Given the description of an element on the screen output the (x, y) to click on. 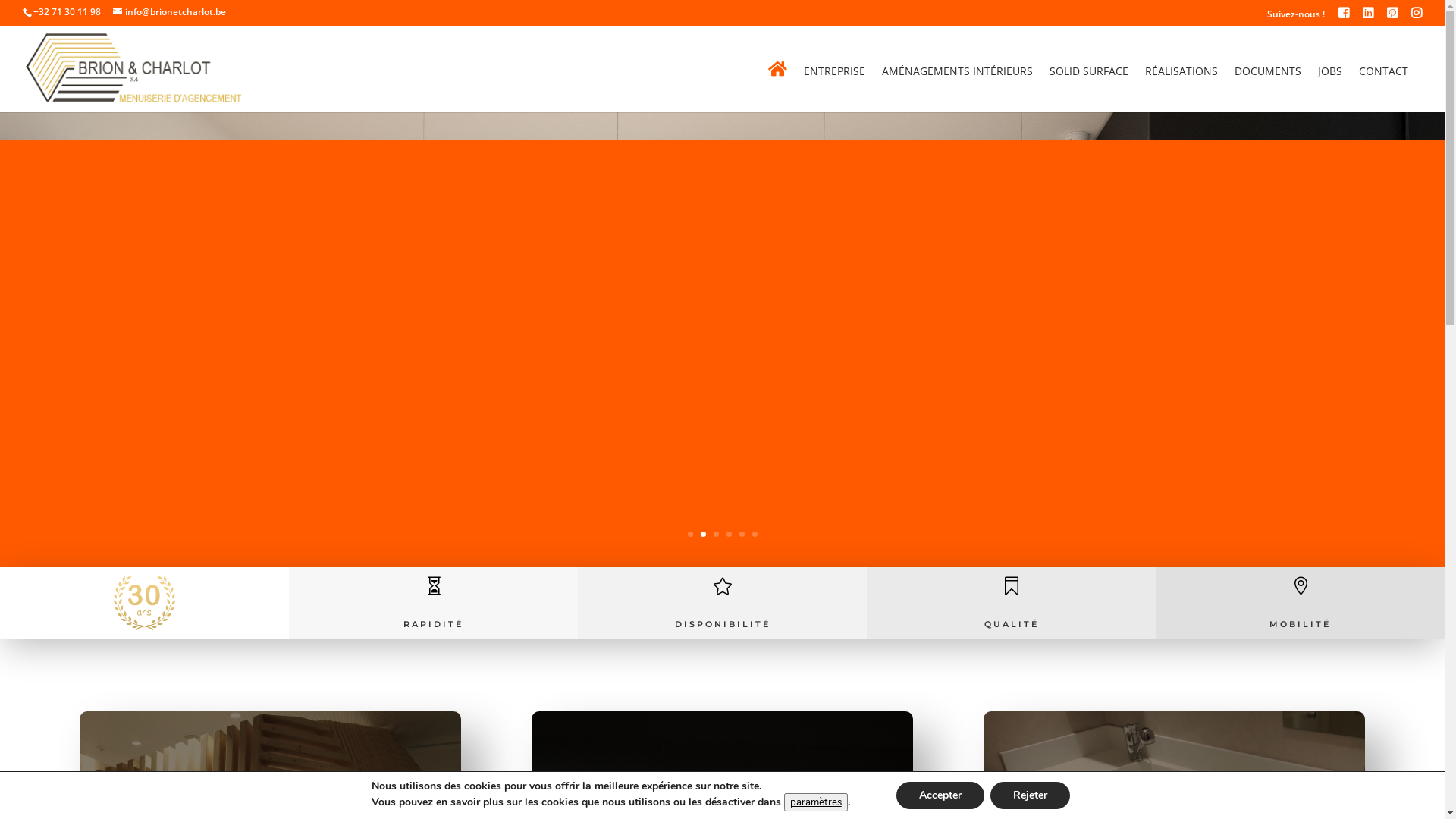
Suivez-nous ! Element type: text (1295, 17)
DOCUMENTS Element type: text (1267, 88)
JOBS Element type: text (1329, 88)
SOLID SURFACE Element type: text (1088, 88)
5 Element type: text (740, 533)
info@brionetcharlot.be Element type: text (168, 11)
3 Element type: text (715, 533)
4 Element type: text (728, 533)
CONTACT Element type: text (1383, 88)
ENTREPRISE Element type: text (834, 88)
2 Element type: text (703, 533)
+32 71 30 11 98 Element type: text (66, 11)
Accepter Element type: text (940, 795)
1 Element type: text (689, 533)
6 Element type: text (754, 533)
Rejeter Element type: text (1030, 795)
30ans Element type: hover (143, 603)
